Given the description of an element on the screen output the (x, y) to click on. 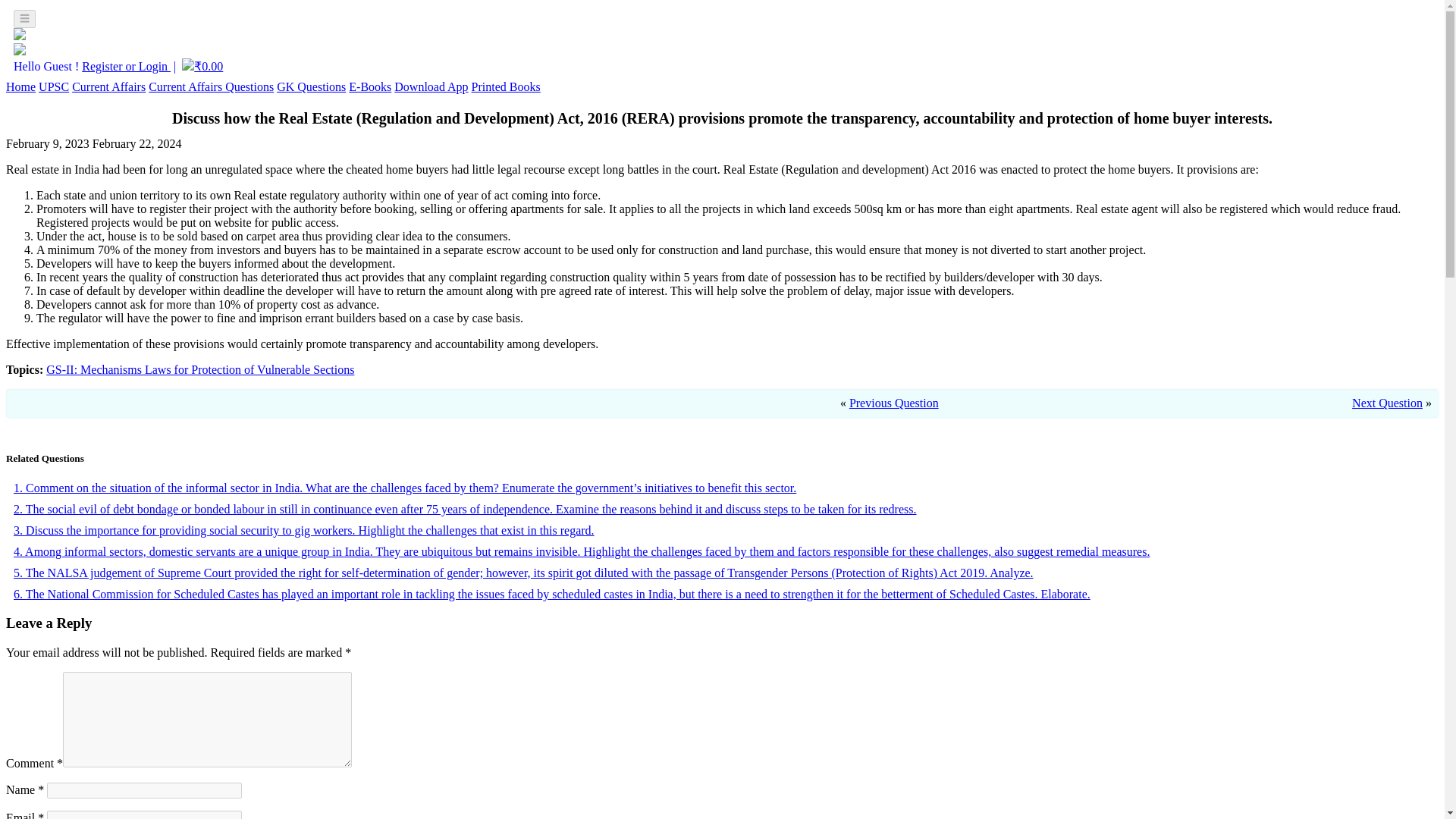
Register or Login (125, 65)
UPSC (53, 86)
E-Books (370, 86)
Current Affairs (108, 86)
Download App (430, 86)
Next Question (1387, 402)
Current Affairs Questions (210, 86)
Printed Books (505, 86)
Home (19, 86)
GS-II: Mechanisms Laws for Protection of Vulnerable Sections (199, 369)
